Given the description of an element on the screen output the (x, y) to click on. 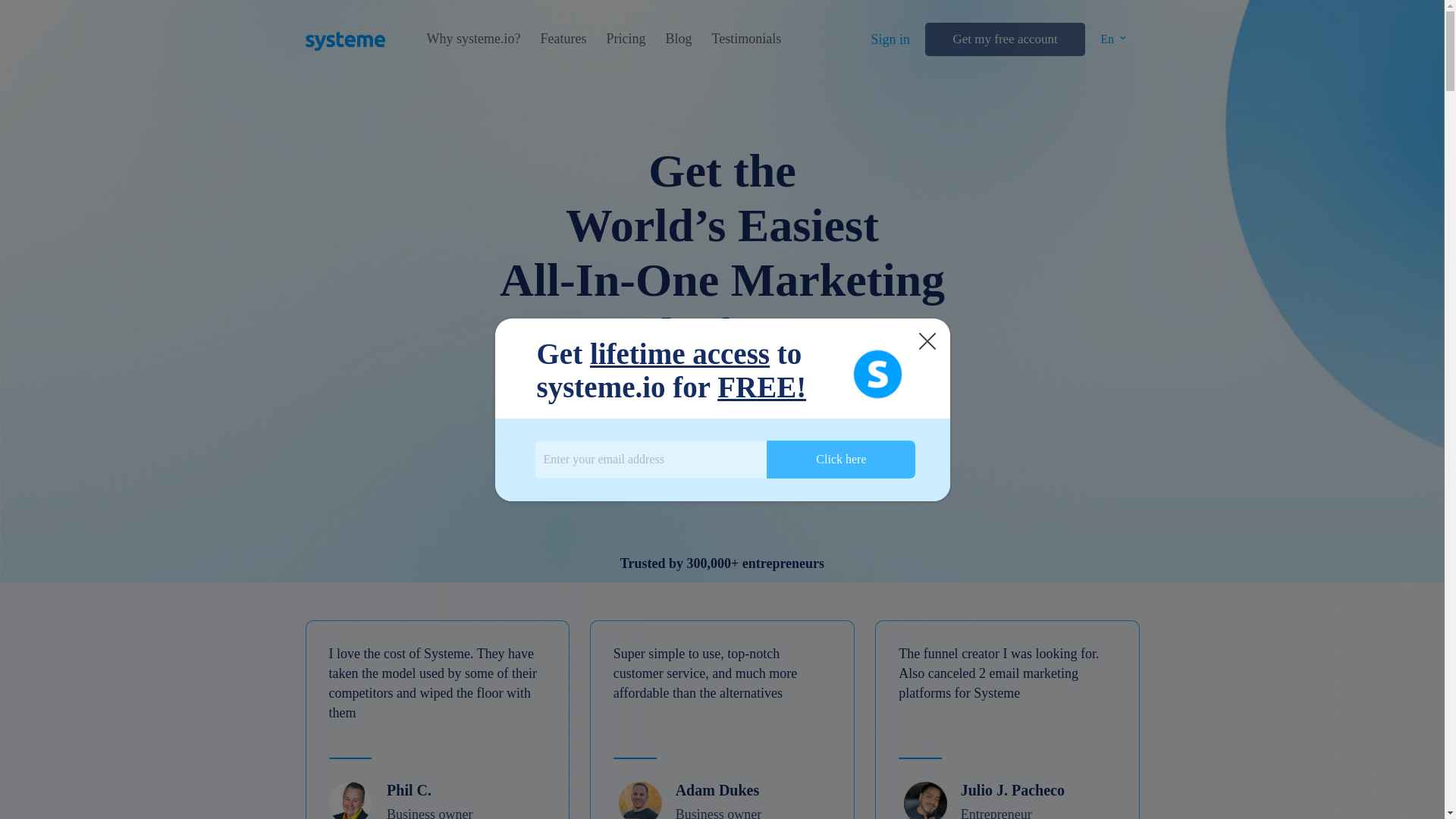
Why systeme.io? (472, 38)
Features (563, 38)
Blog (678, 38)
Get my free account (1004, 39)
Sign in (890, 39)
Testimonials (745, 38)
Pricing (625, 38)
